Given the description of an element on the screen output the (x, y) to click on. 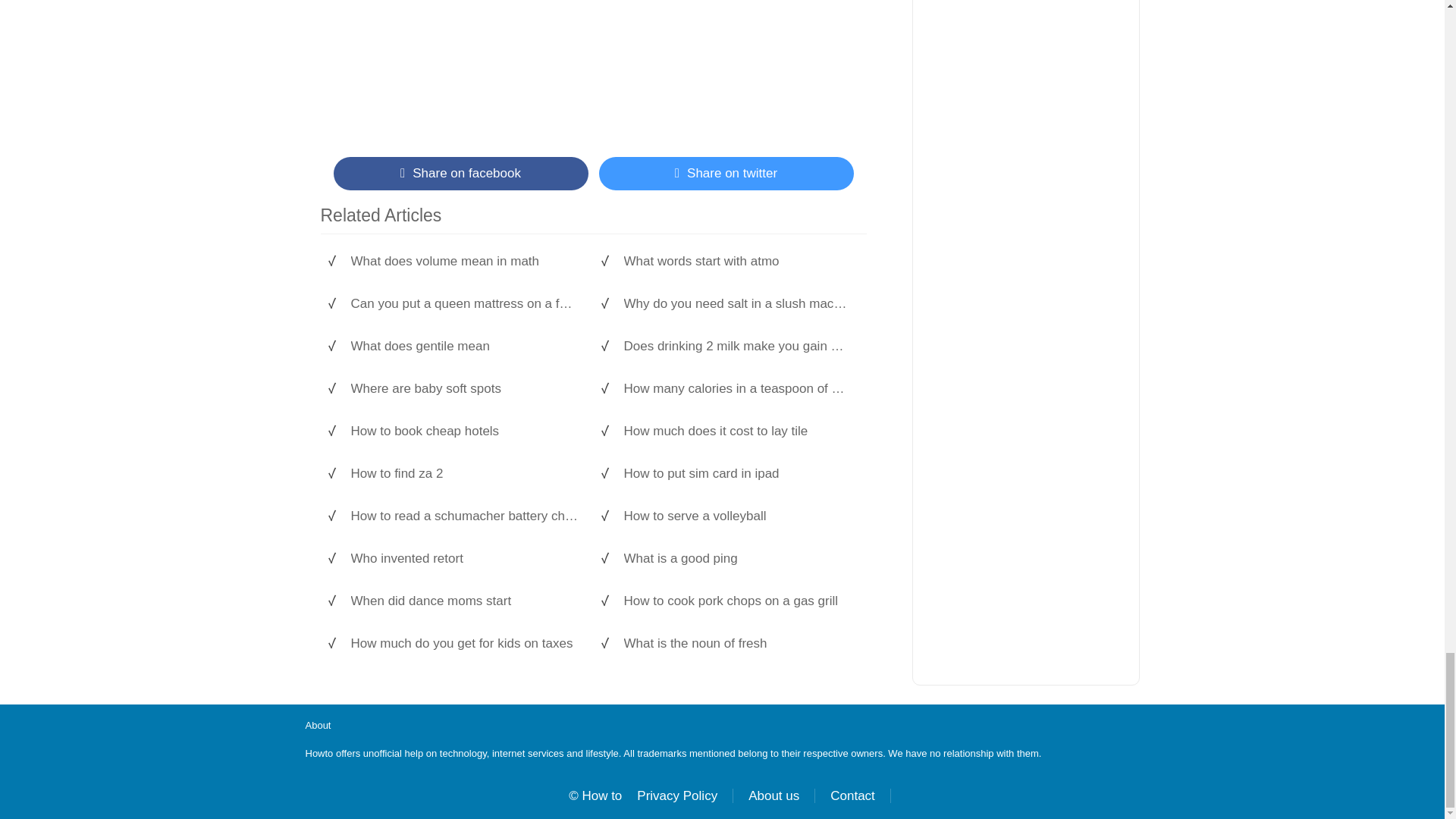
Does drinking 2 milk make you gain weight (736, 346)
What does volume mean in math (464, 261)
How to read a schumacher battery charger (464, 516)
Share on Facebook (460, 173)
How much do you get for kids on taxes (464, 643)
How much does it cost to lay tile (736, 431)
How much does it cost to lay tile (736, 431)
Does drinking 2 milk make you gain weight (736, 346)
Where are baby soft spots (464, 388)
What words start with atmo (736, 261)
What words start with atmo (736, 261)
Share on twitter (725, 173)
How to cook pork chops on a gas grill (736, 601)
How to find za 2 (464, 473)
How to serve a volleyball (736, 516)
